Given the description of an element on the screen output the (x, y) to click on. 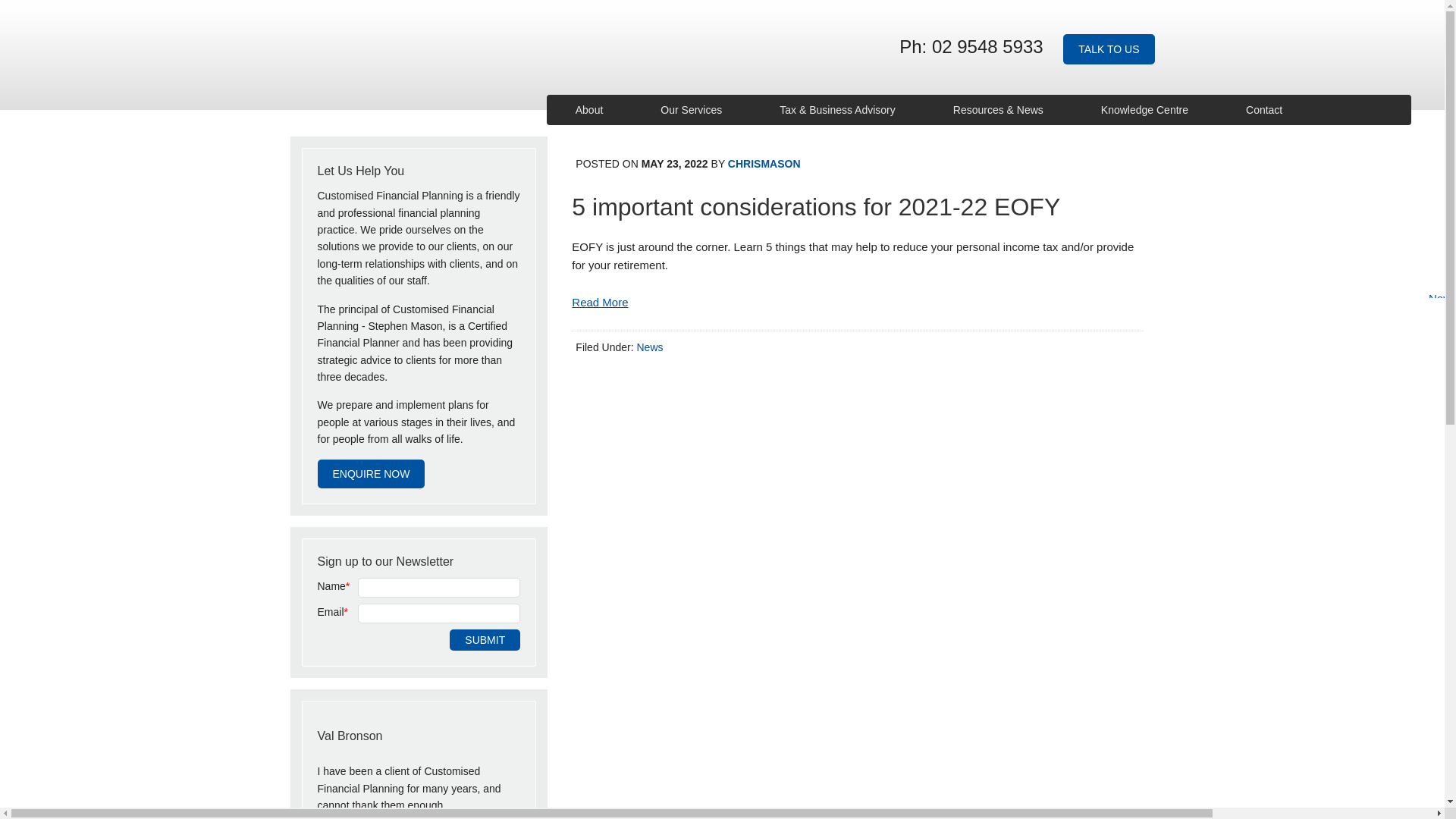
About (589, 110)
TALK TO US (1108, 49)
Customised Financial Planning (400, 46)
Submit (484, 639)
CHRISMASON (764, 163)
Contact (1264, 110)
Val Bronson (349, 735)
Val Bronson (349, 735)
Knowledge Centre (1144, 110)
Our Services (691, 110)
